Given the description of an element on the screen output the (x, y) to click on. 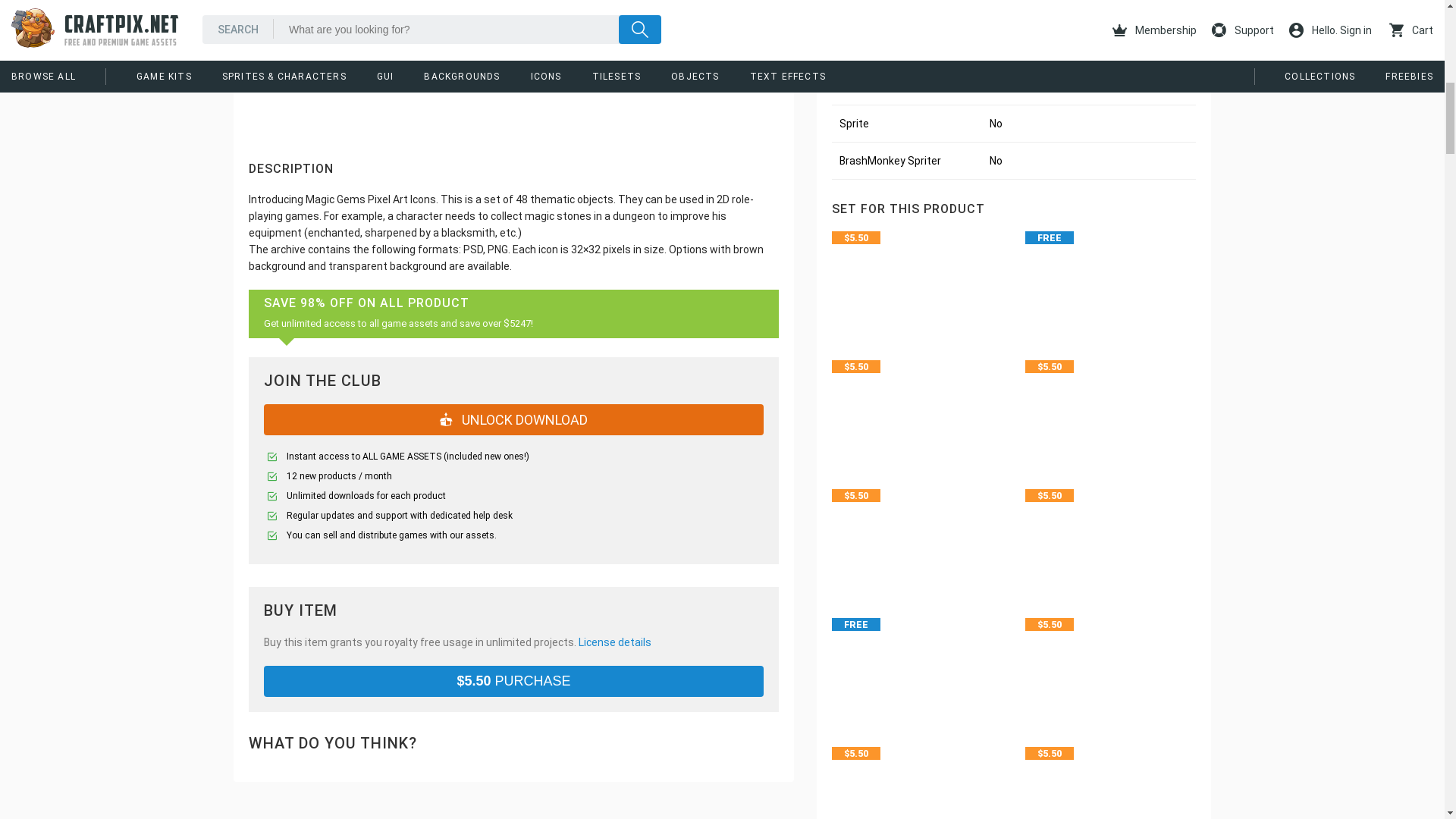
Free Swordsman Skills Pixel Art Icons (917, 666)
Barbarian Skills Pixel Art Icon Pack (1110, 666)
Thief Skills Pixel Art Icon Pack (1110, 779)
Free RPG Loot Icons Pixel Art (1110, 280)
Alchemy Items Pixel Art Icons (1110, 538)
Loot Icons Pixel Art Pack (917, 280)
RPG Crafting Material Icons Pixel Art (917, 538)
UNLOCK DOWNLOAD (513, 419)
Materials for Crafting Pixel Art Icons (917, 409)
RPG Gems Icon Pack Pixel Art (1110, 409)
